Given the description of an element on the screen output the (x, y) to click on. 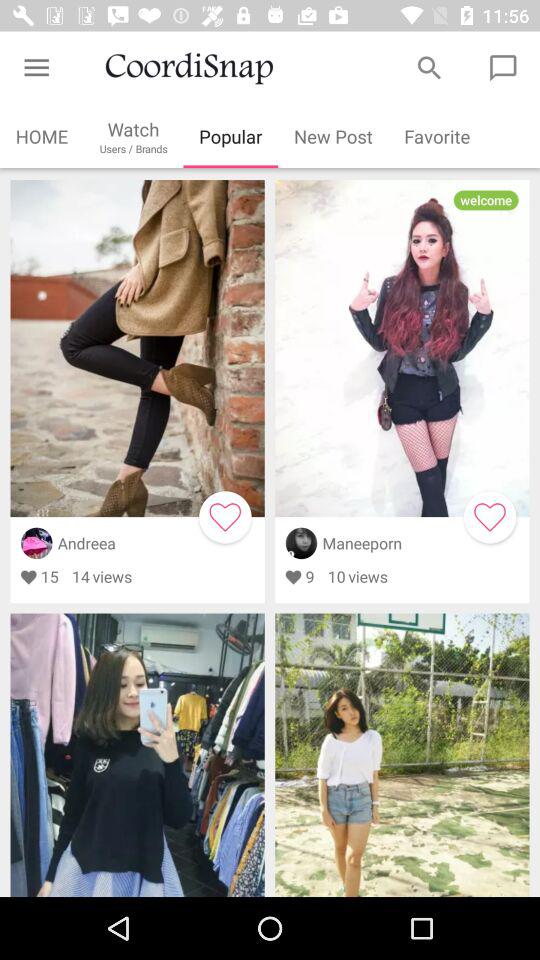
add to favorites (225, 517)
